Given the description of an element on the screen output the (x, y) to click on. 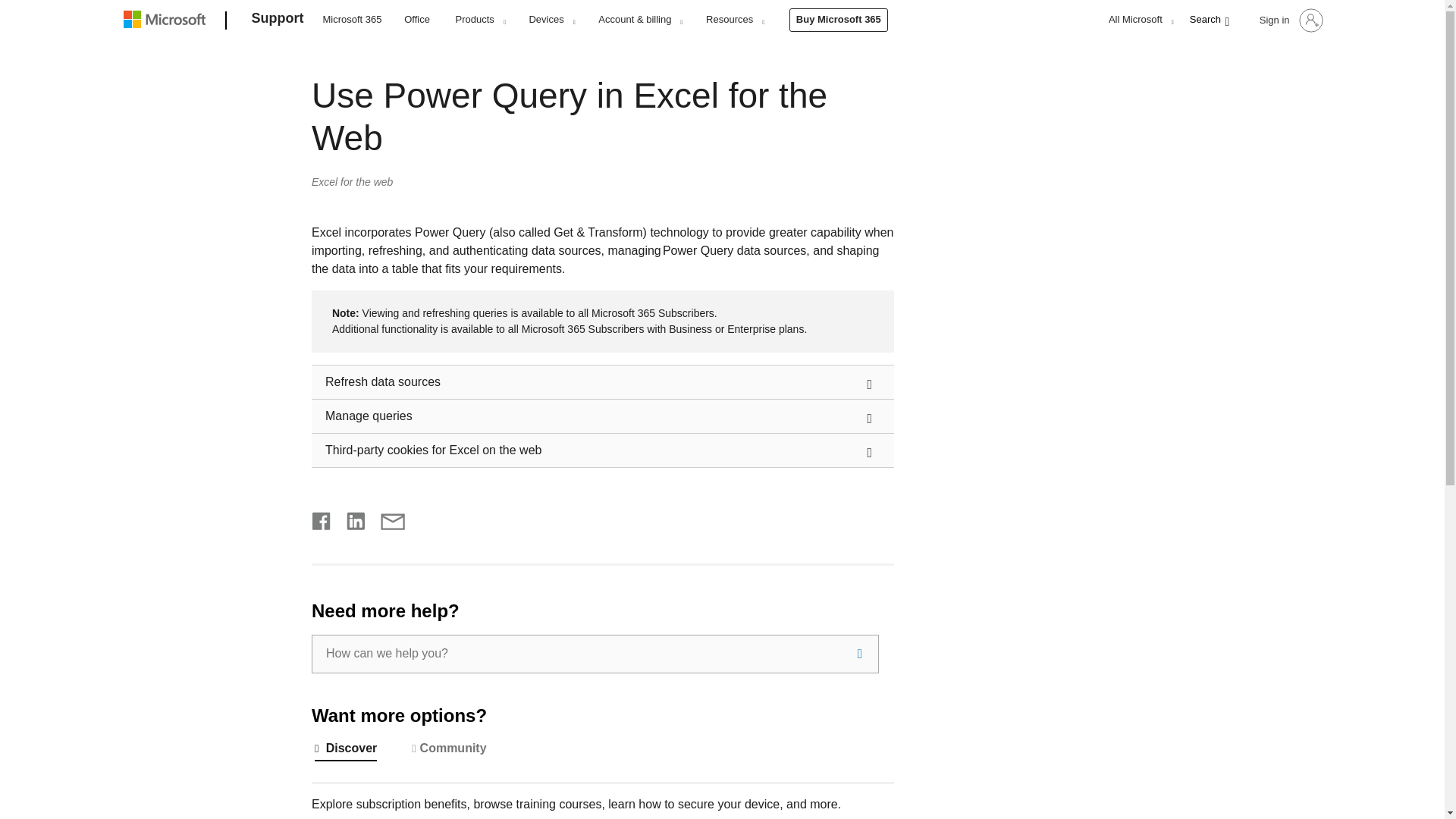
Share on LinkedIn (349, 518)
Office (416, 18)
Microsoft 365 (351, 18)
Devices (550, 18)
Search (860, 653)
Resources (734, 18)
Microsoft (167, 20)
Products (480, 18)
Share on Facebook (322, 518)
Support (277, 20)
